Given the description of an element on the screen output the (x, y) to click on. 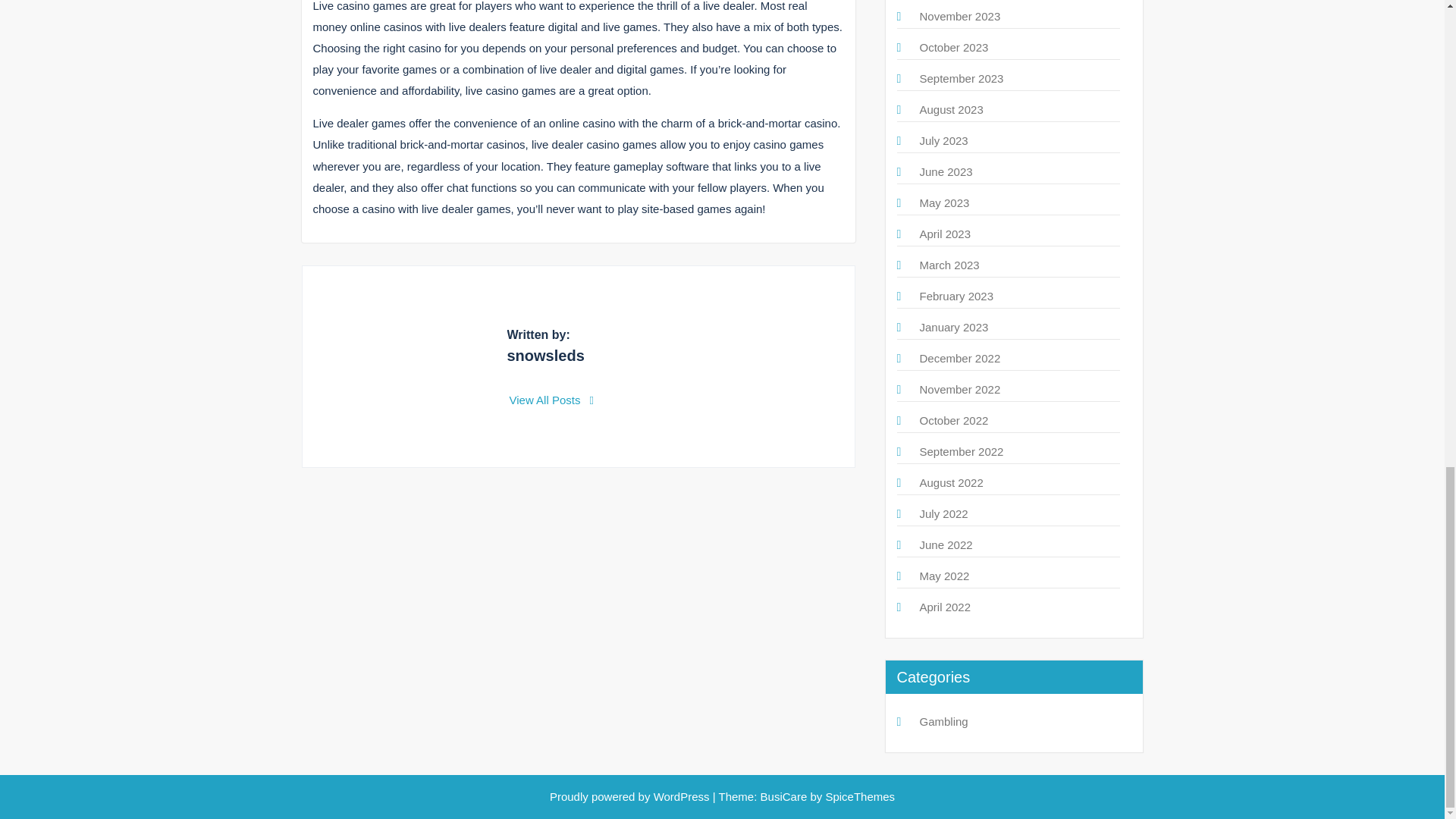
June 2023 (945, 171)
October 2023 (953, 47)
December 2022 (959, 358)
November 2022 (959, 389)
February 2023 (955, 295)
May 2023 (943, 202)
April 2023 (944, 233)
View All Posts (551, 399)
September 2023 (960, 78)
September 2022 (960, 451)
July 2022 (943, 513)
July 2023 (943, 140)
March 2023 (948, 264)
January 2023 (953, 327)
May 2022 (943, 575)
